Given the description of an element on the screen output the (x, y) to click on. 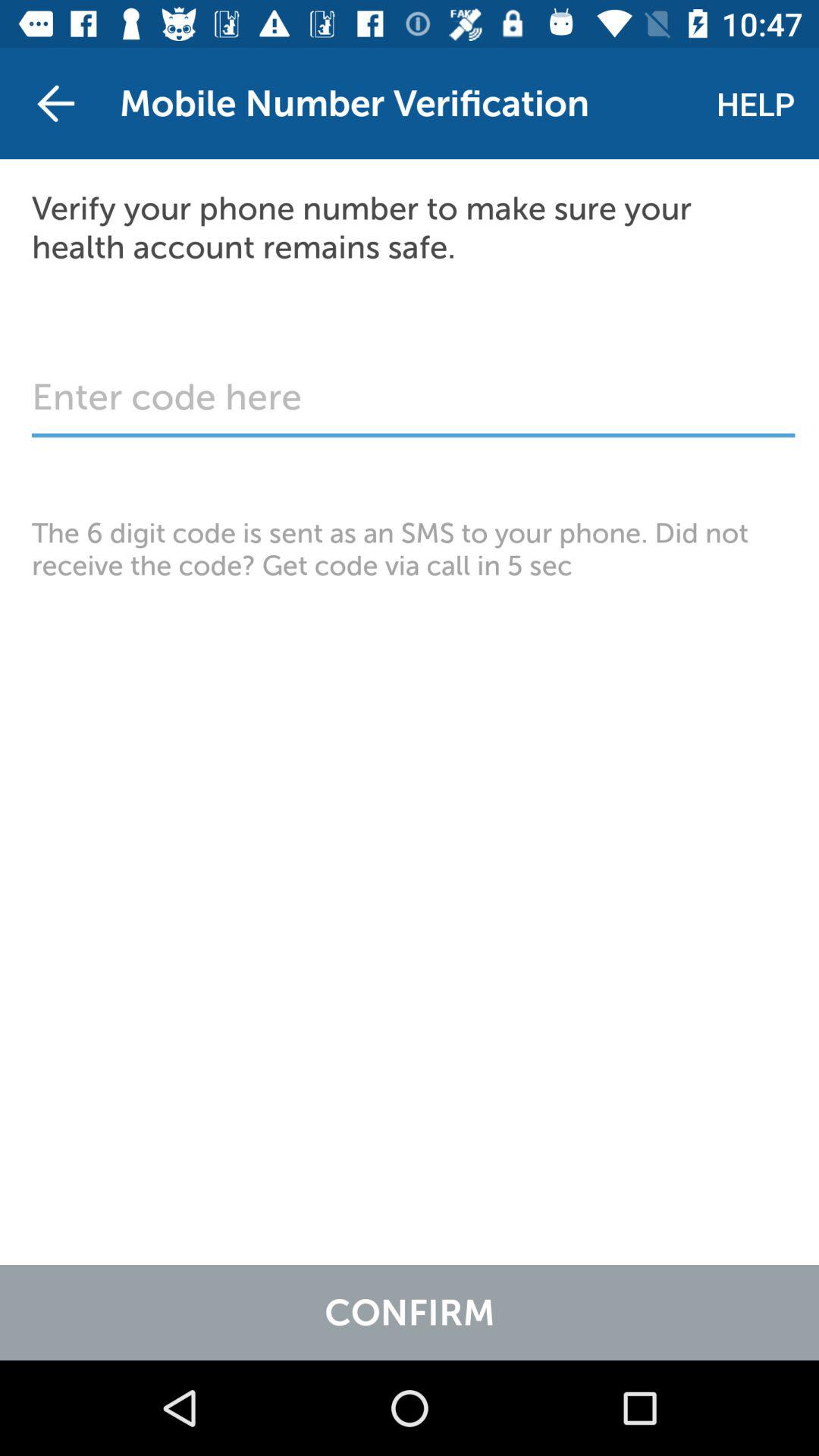
swipe to the help icon (755, 103)
